Given the description of an element on the screen output the (x, y) to click on. 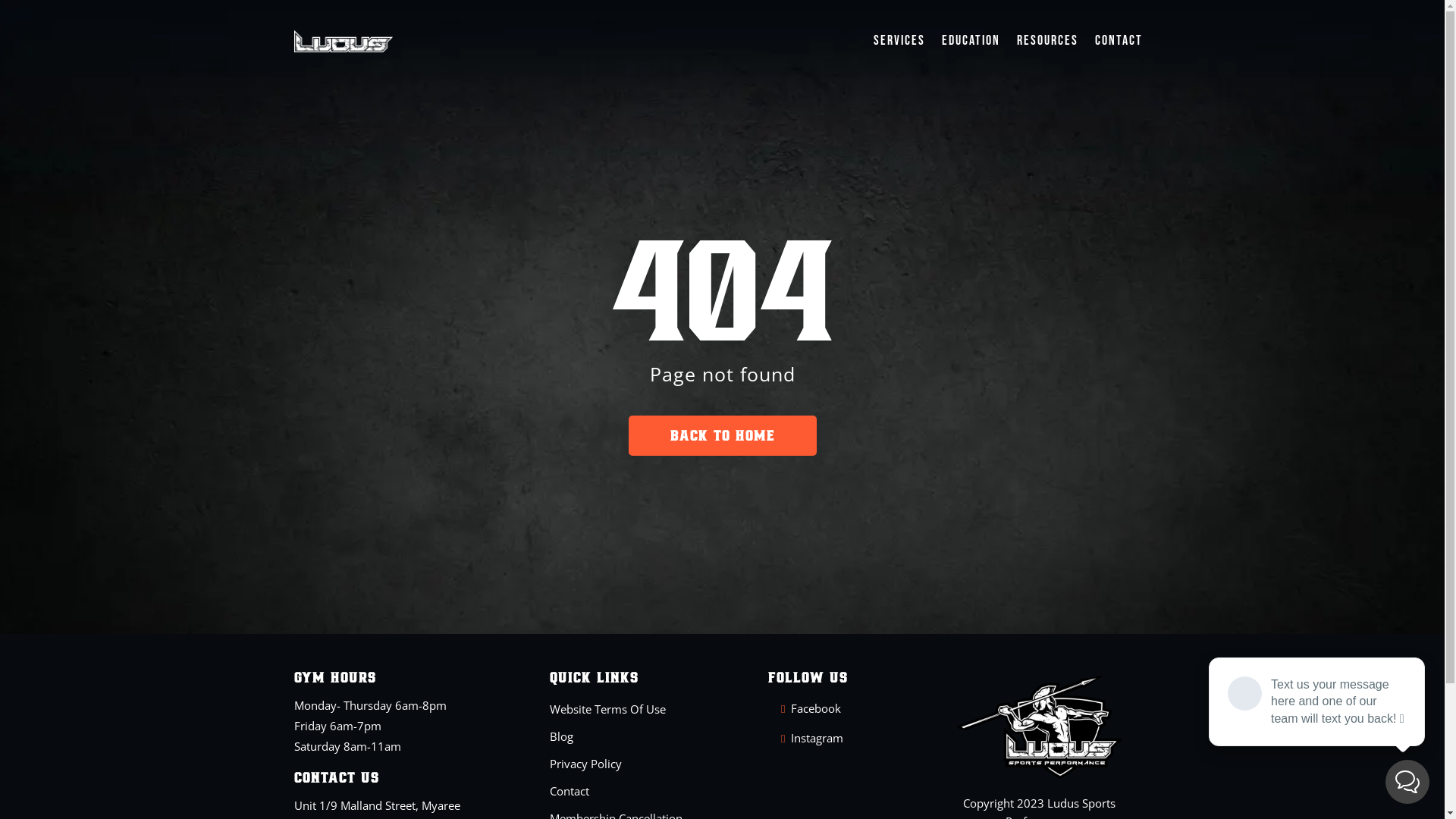
Blog Element type: text (561, 735)
Contact Element type: text (569, 789)
Website Terms Of Use Element type: text (607, 707)
Instagram Element type: text (816, 736)
Contact Element type: text (1117, 40)
Facebook Element type: text (815, 707)
Resources Element type: text (1047, 40)
Privacy Policy Element type: text (585, 762)
Education Element type: text (969, 40)
BACK TO HOME Element type: text (721, 435)
Services Element type: text (898, 40)
